Given the description of an element on the screen output the (x, y) to click on. 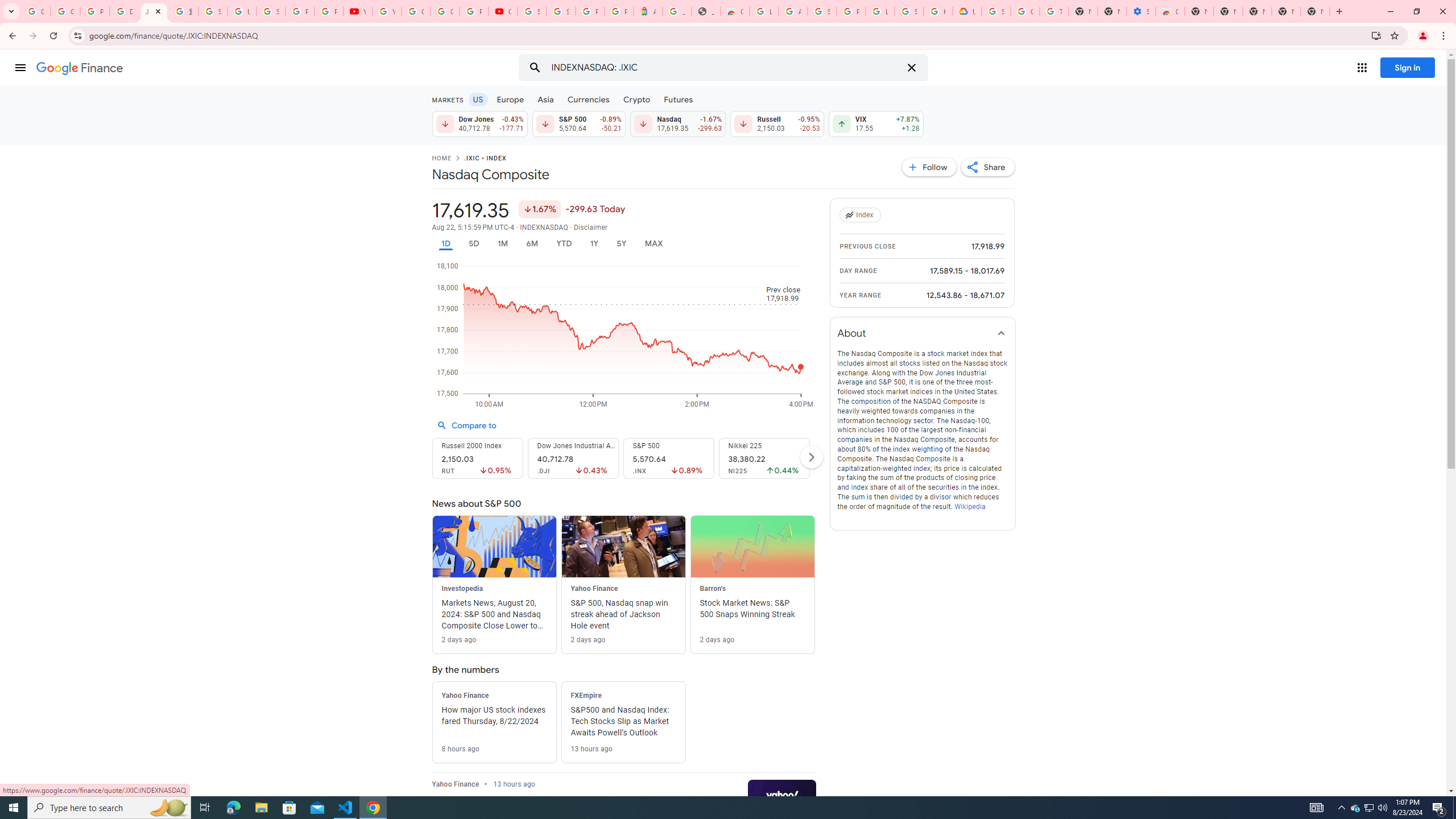
S&P 500 5,570.64 Down by 0.89% -50.21 (578, 123)
Chrome Web Store - Household (734, 11)
Google apps (1362, 67)
Install Google Finance (1376, 35)
Share (987, 167)
Asia (545, 99)
